Given the description of an element on the screen output the (x, y) to click on. 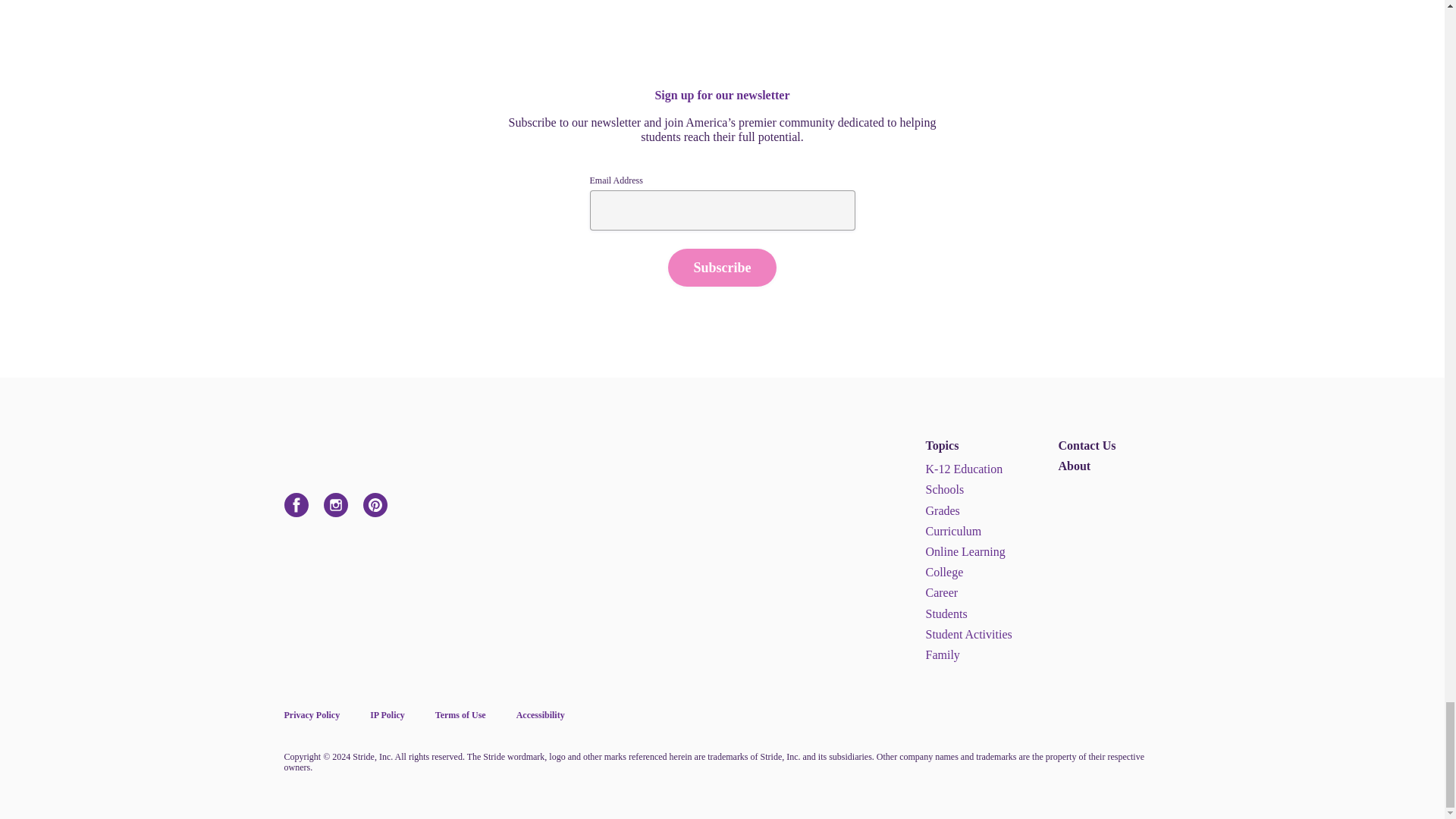
Subscribe (722, 267)
Learning Liftoff Privacy Policy (311, 715)
Accessibility Policy (540, 715)
